Given the description of an element on the screen output the (x, y) to click on. 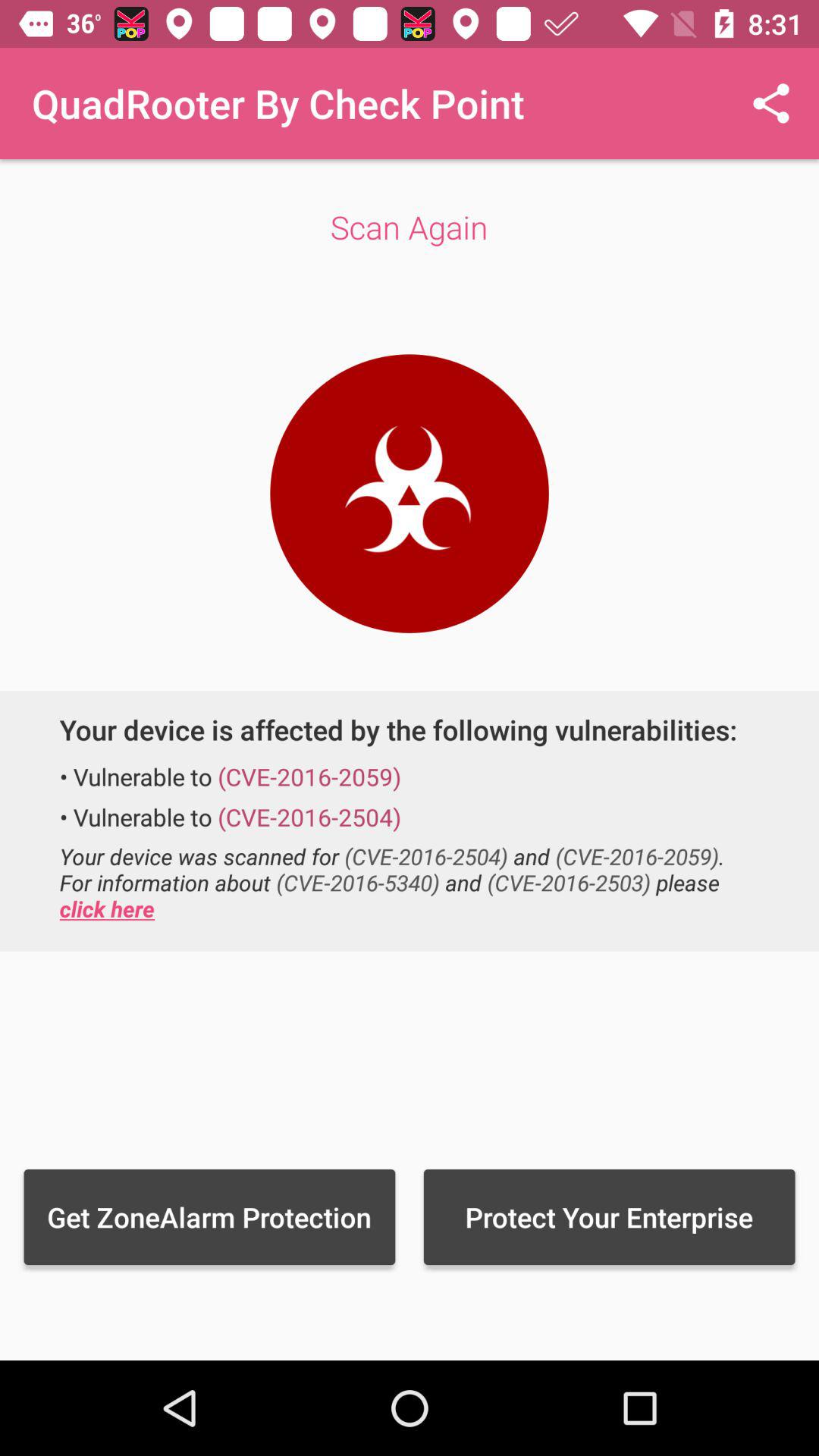
select item to the left of protect your enterprise item (209, 1216)
